Given the description of an element on the screen output the (x, y) to click on. 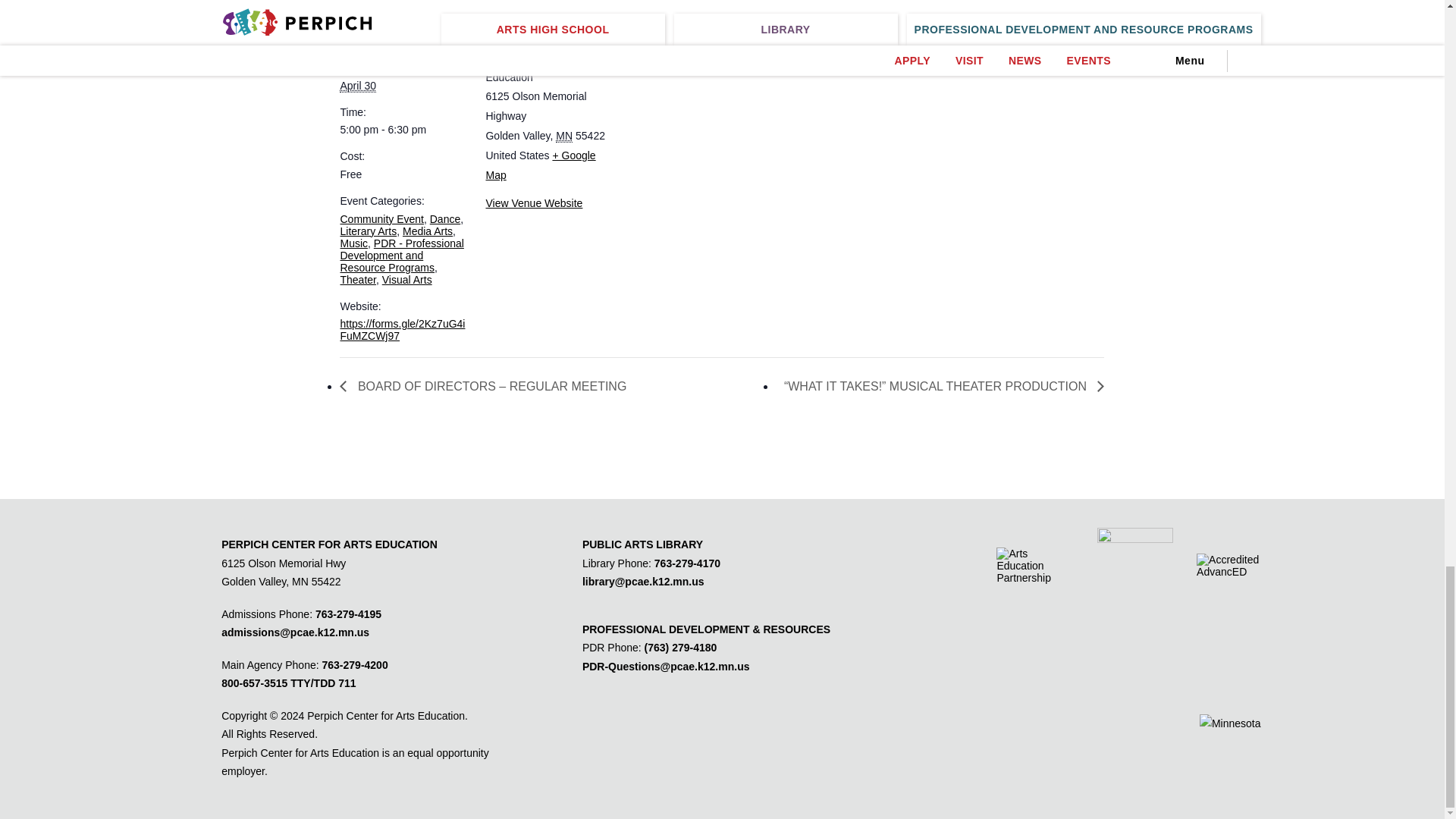
Minnesota (564, 135)
Community Event (381, 218)
2024-04-30 (403, 129)
2024-04-30 (357, 85)
Click to view a Google Map (539, 164)
